Given the description of an element on the screen output the (x, y) to click on. 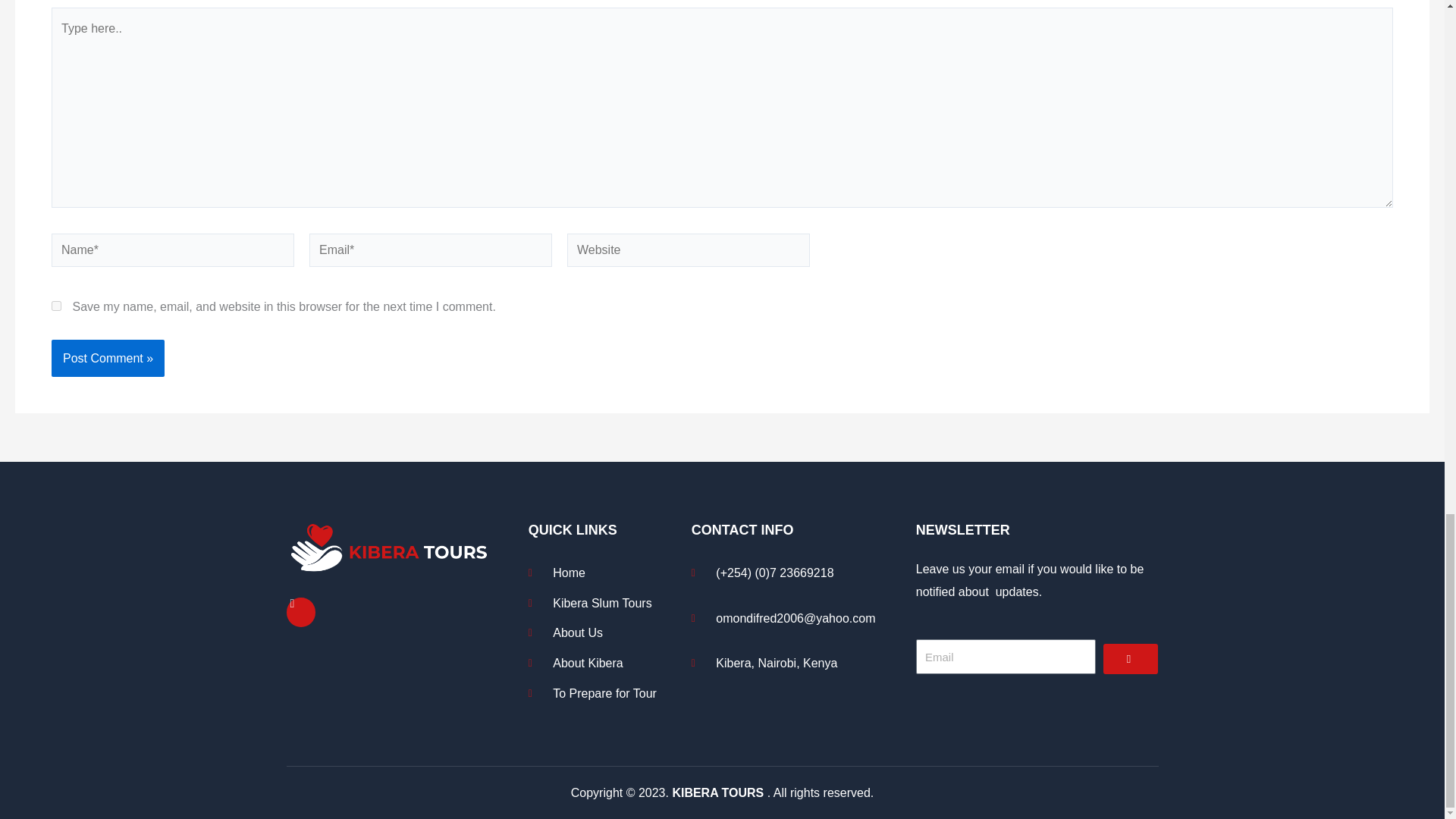
About Kibera (606, 662)
Home (606, 572)
To Prepare for Tour (606, 693)
About Us (606, 632)
yes (55, 306)
Kibera Slum Tours (606, 603)
